Given the description of an element on the screen output the (x, y) to click on. 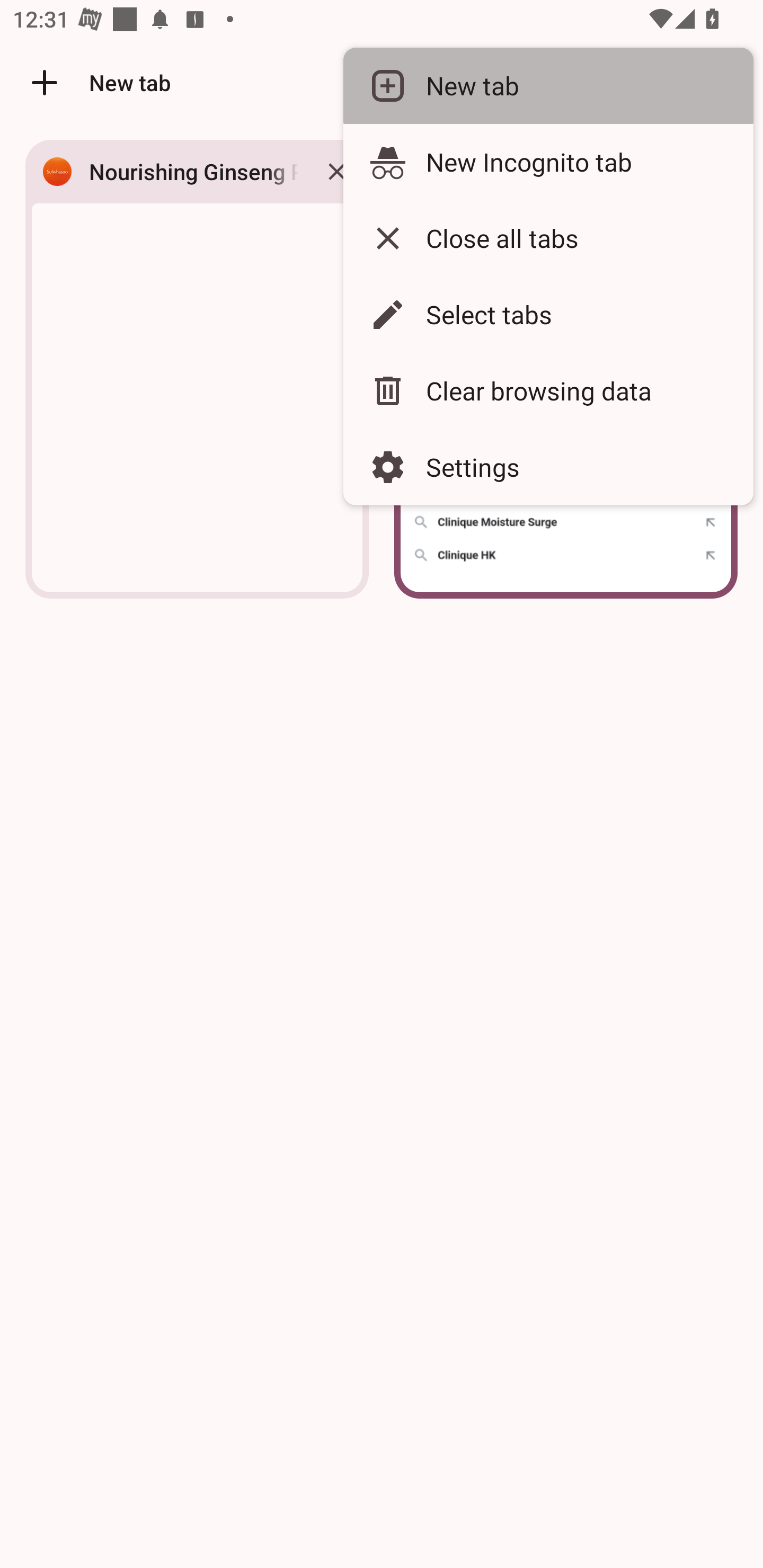
New tab (548, 85)
New Incognito tab (548, 161)
Close all tabs (548, 237)
Select tabs (548, 313)
Clear browsing data (548, 390)
Settings (548, 466)
